Given the description of an element on the screen output the (x, y) to click on. 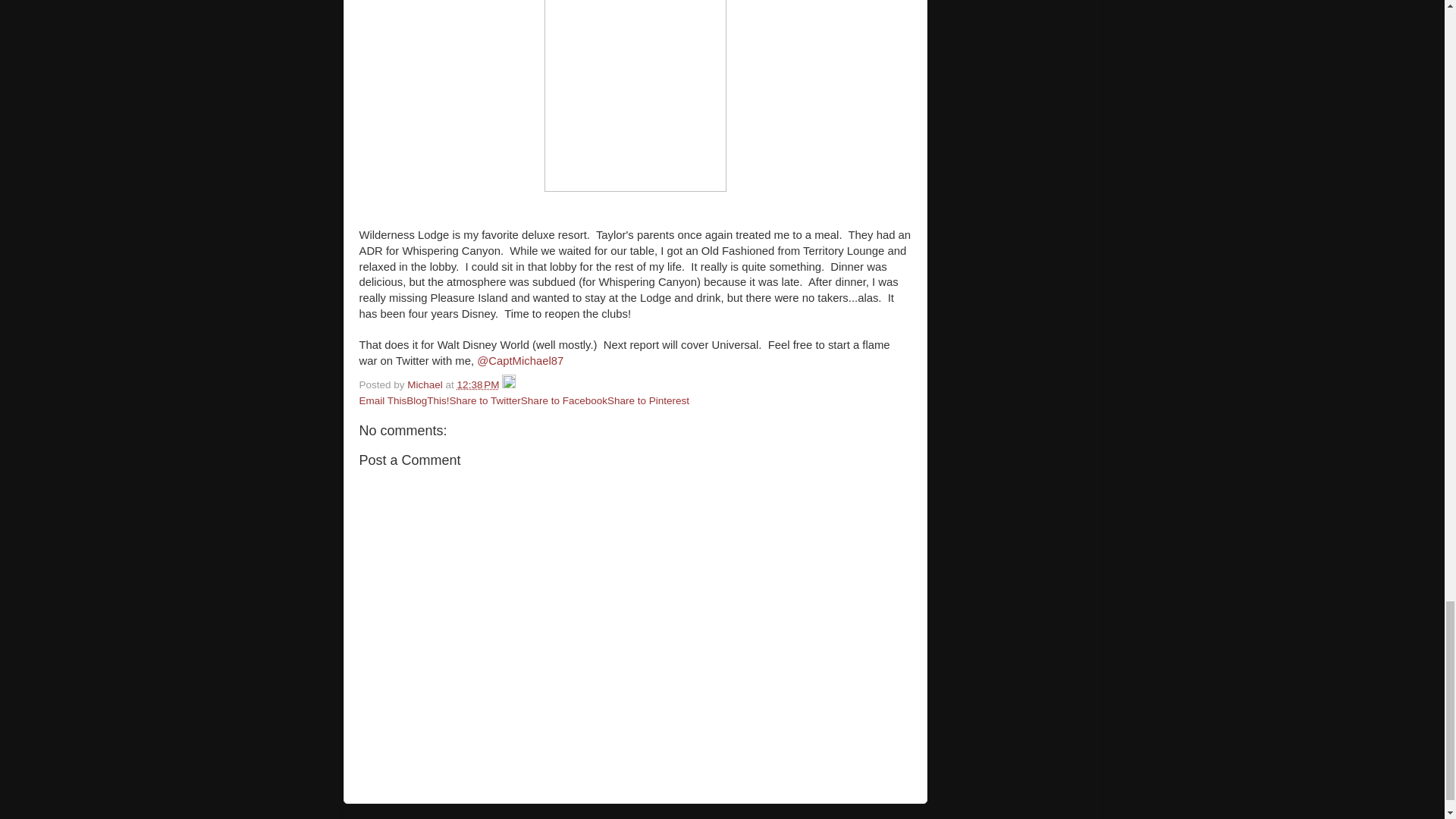
Edit Post (508, 384)
author profile (426, 384)
Share to Twitter (485, 400)
BlogThis! (427, 400)
BlogThis! (427, 400)
Share to Pinterest (647, 400)
Michael (426, 384)
Email This (383, 400)
Share to Pinterest (647, 400)
Share to Twitter (485, 400)
Email This (383, 400)
permanent link (478, 384)
Share to Facebook (564, 400)
Share to Facebook (564, 400)
